Given the description of an element on the screen output the (x, y) to click on. 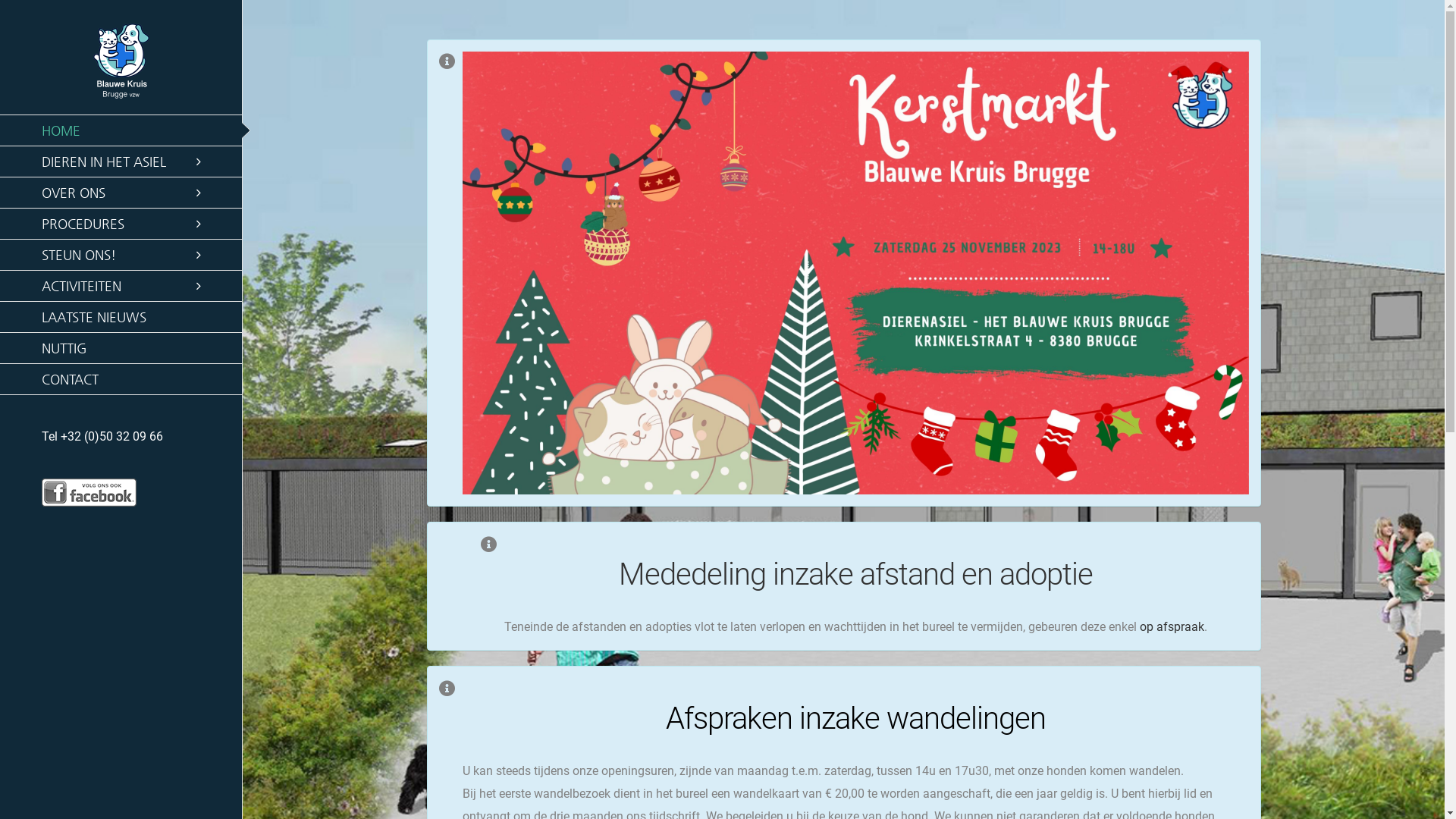
CONTACT Element type: text (121, 379)
OVER ONS Element type: text (121, 192)
ACTIVITEITEN Element type: text (121, 285)
STEUN ONS! Element type: text (121, 254)
NUTTIG Element type: text (121, 348)
op afspraak Element type: text (1171, 626)
DIEREN IN HET ASIEL Element type: text (121, 161)
PROCEDURES Element type: text (121, 223)
LAATSTE NIEUWS Element type: text (121, 316)
HOME Element type: text (121, 130)
